Given the description of an element on the screen output the (x, y) to click on. 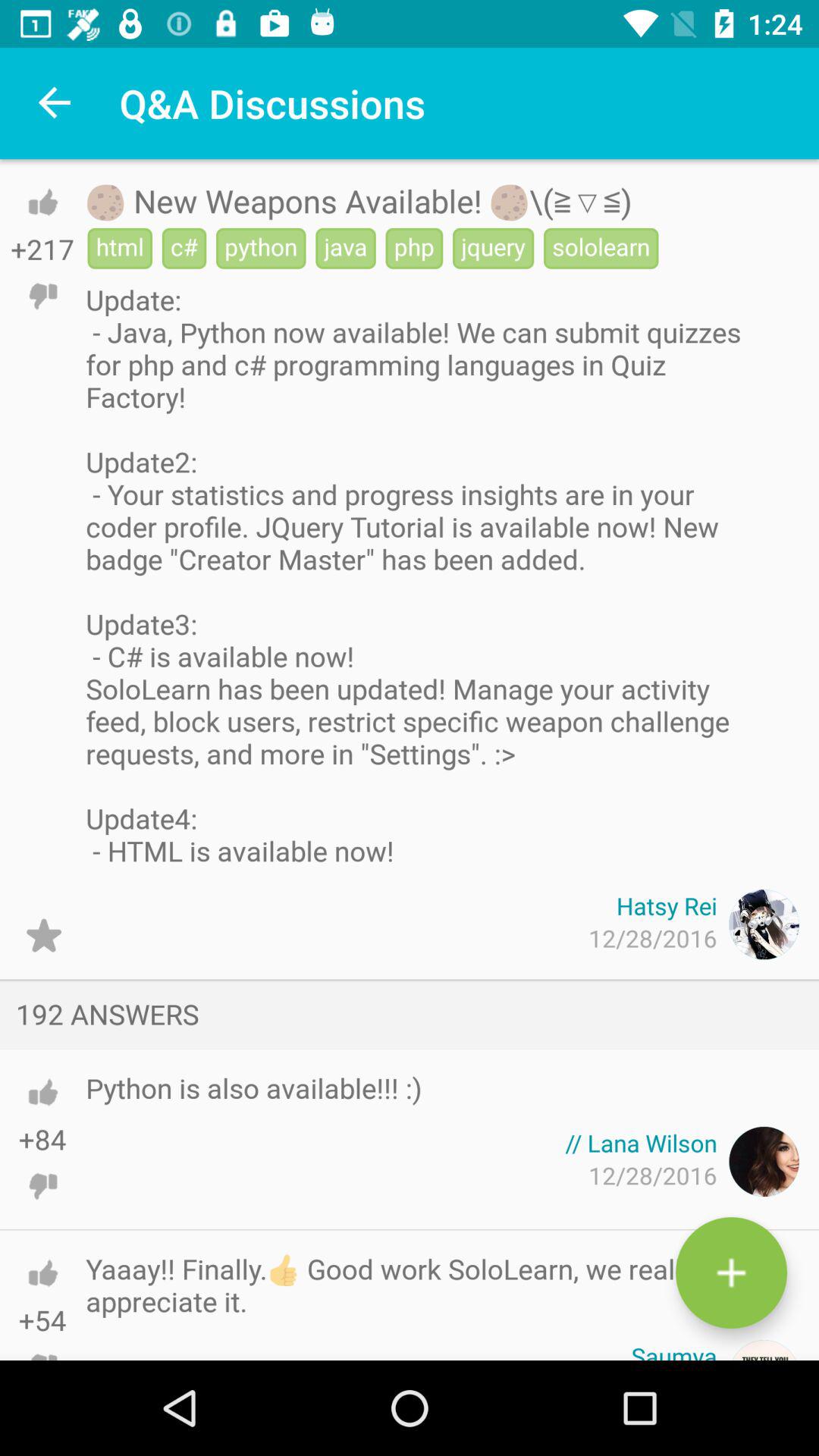
dislike discussion post (42, 296)
